Given the description of an element on the screen output the (x, y) to click on. 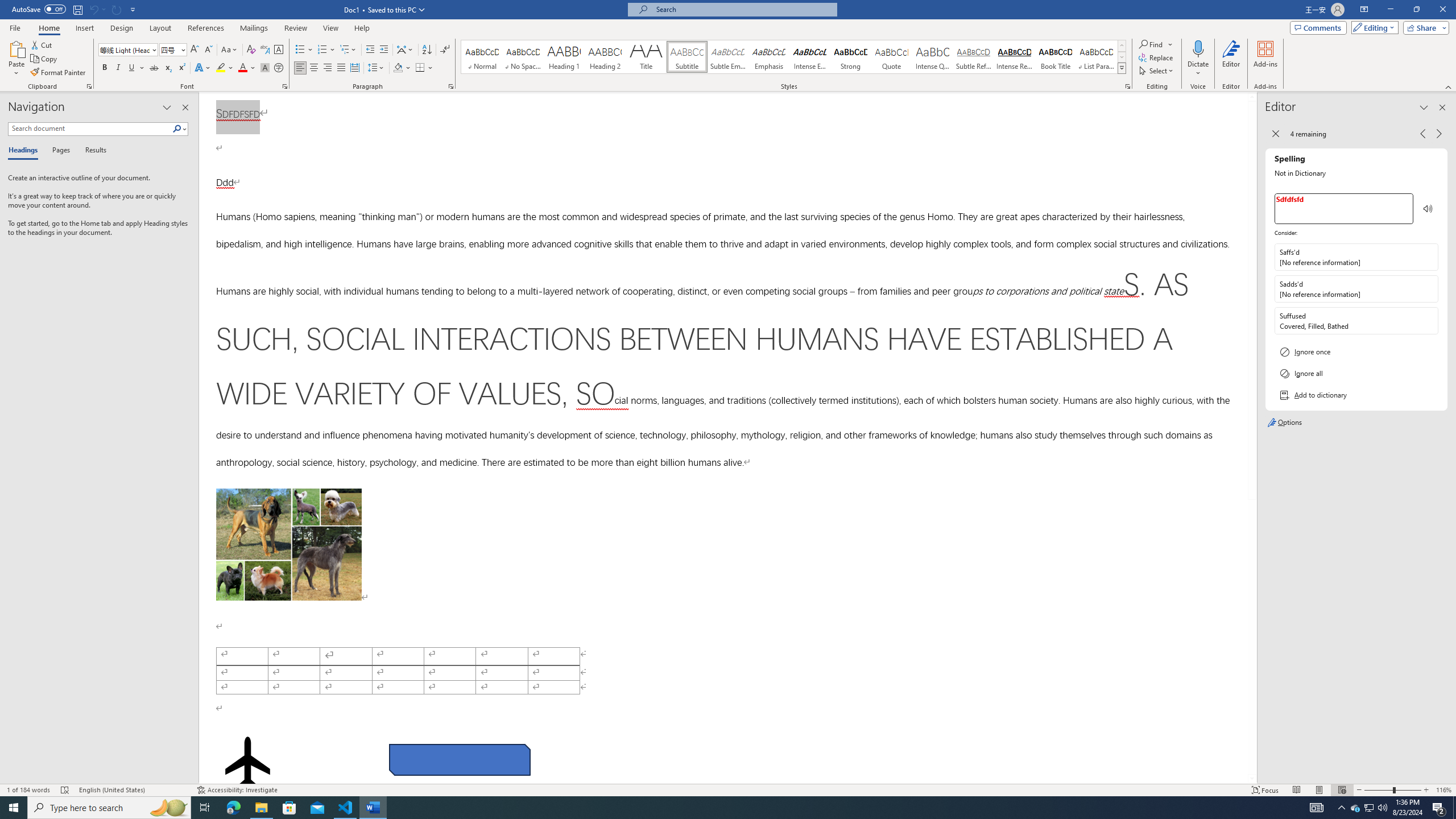
Quote (891, 56)
Mailings (253, 28)
Options (1356, 422)
Mode (1372, 27)
Headings (25, 150)
